Given the description of an element on the screen output the (x, y) to click on. 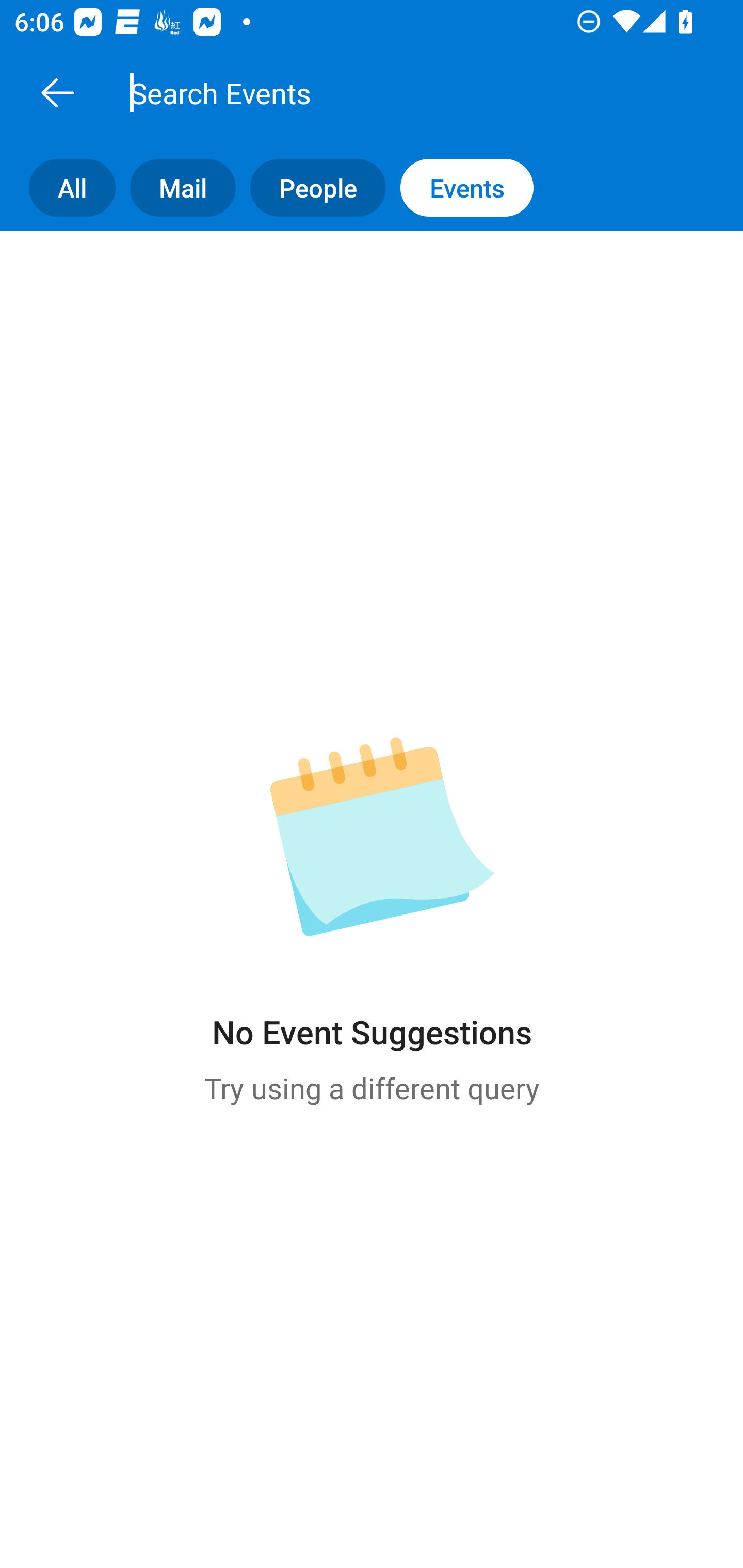
Back (57, 92)
Search Events (394, 92)
All (57, 187)
Mail (175, 187)
People (310, 187)
